Given the description of an element on the screen output the (x, y) to click on. 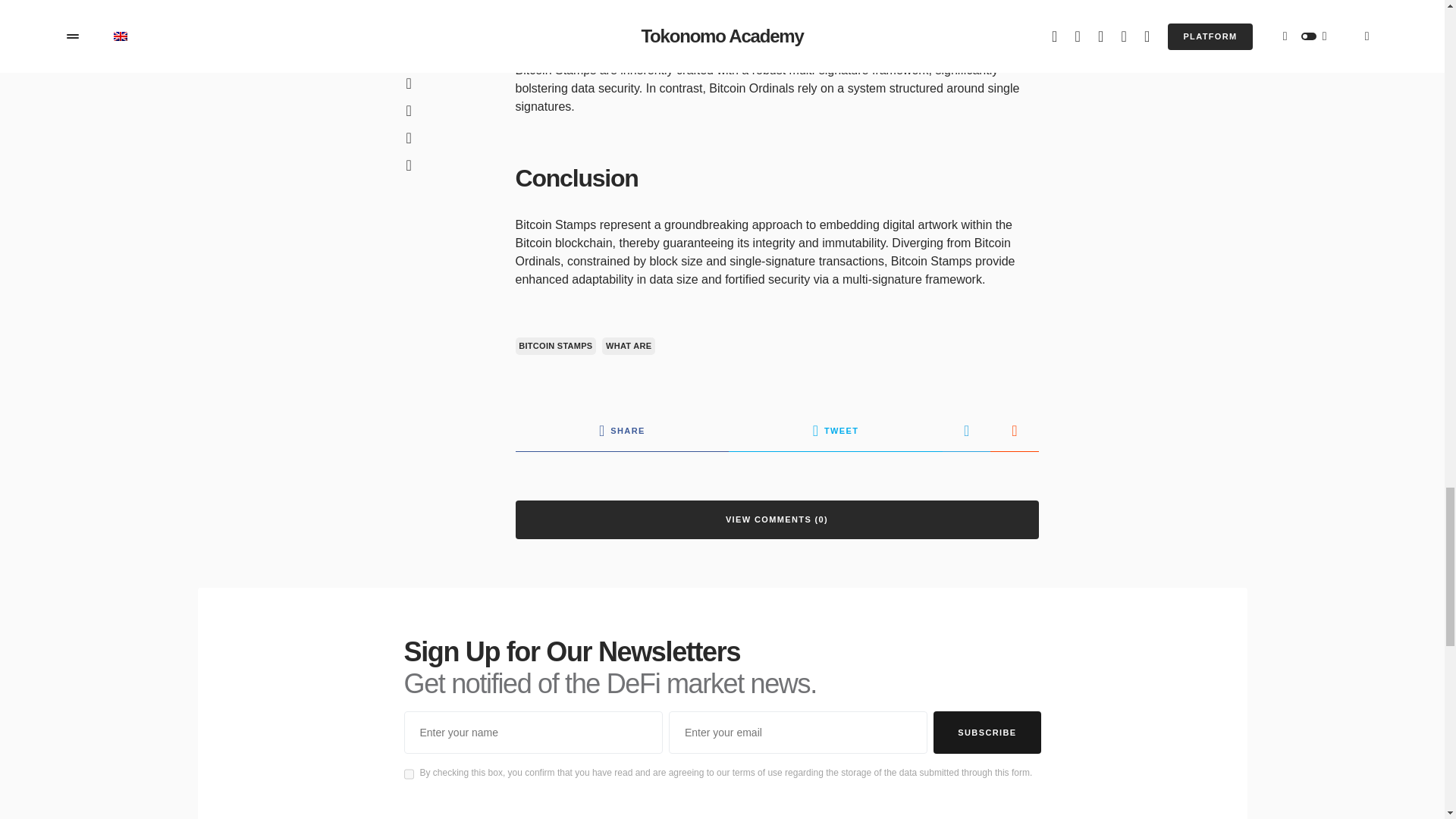
on (408, 774)
